Given the description of an element on the screen output the (x, y) to click on. 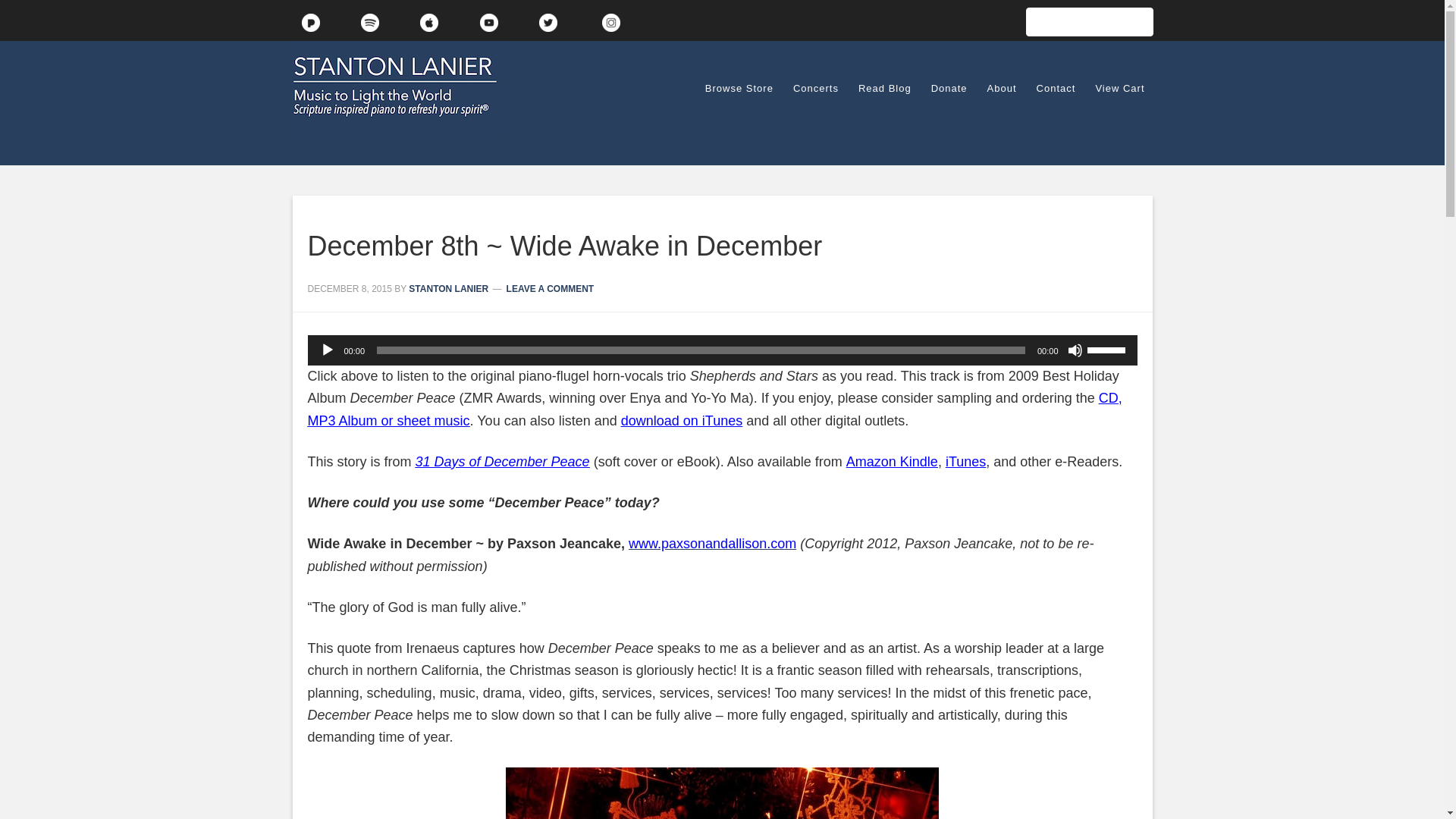
View Cart (1119, 88)
Mute (1075, 350)
Donate (948, 88)
New Free Resource (1089, 21)
CD, MP3 Album or sheet music (714, 408)
LEAVE A COMMENT (550, 288)
31 Days of December Peace (501, 461)
download on iTunes (681, 419)
Contact (1056, 88)
Browse Store (739, 88)
